Given the description of an element on the screen output the (x, y) to click on. 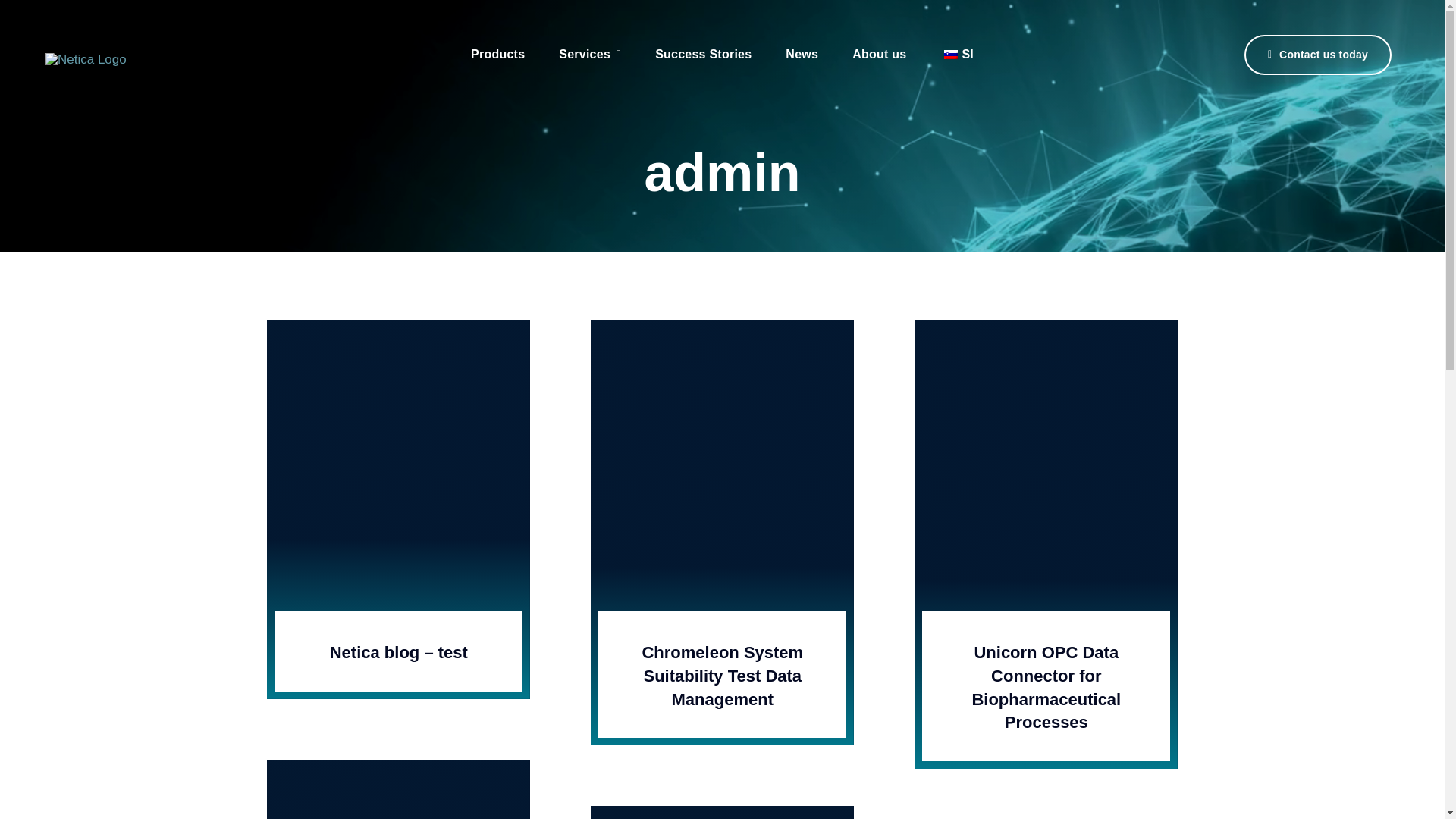
Contact us today (1317, 55)
About us (878, 54)
Services (590, 54)
SI (957, 54)
Slovenian (950, 53)
Success Stories (703, 54)
News (802, 54)
Products (497, 54)
